Given the description of an element on the screen output the (x, y) to click on. 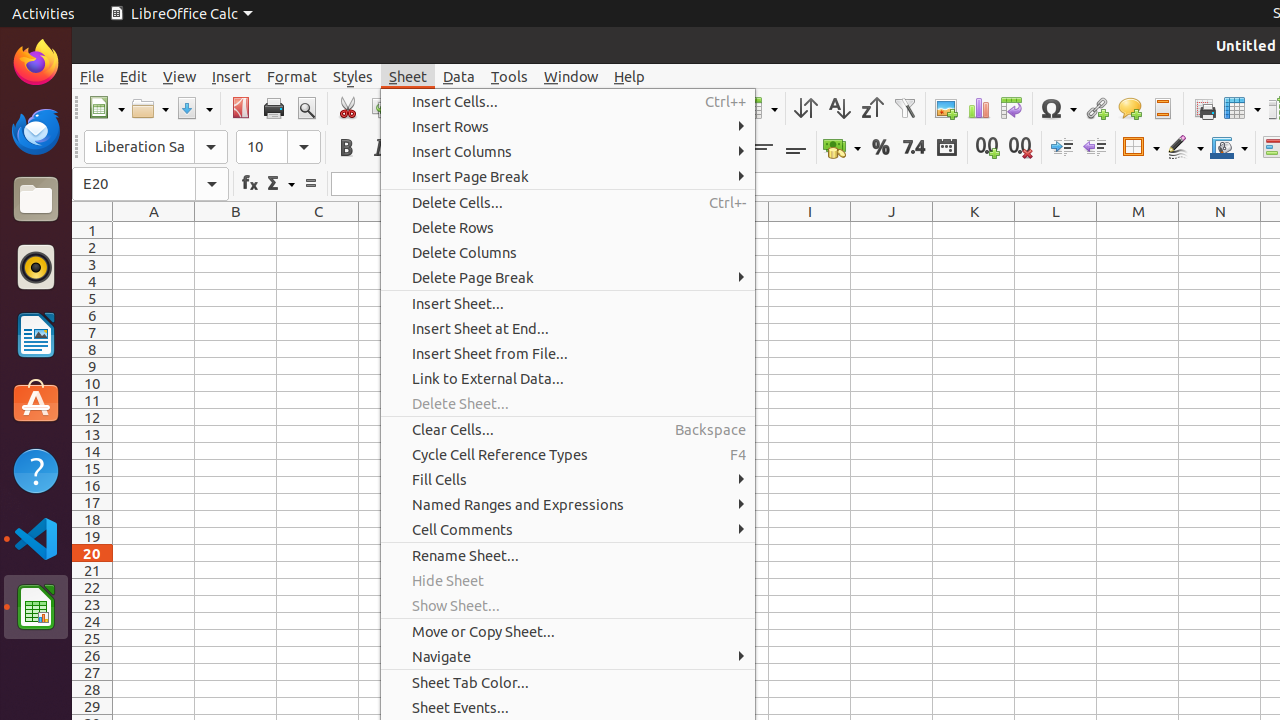
M1 Element type: table-cell (1138, 230)
Rhythmbox Element type: push-button (36, 267)
K1 Element type: table-cell (974, 230)
Increase Element type: push-button (1061, 147)
Navigate Element type: menu (568, 656)
